Given the description of an element on the screen output the (x, y) to click on. 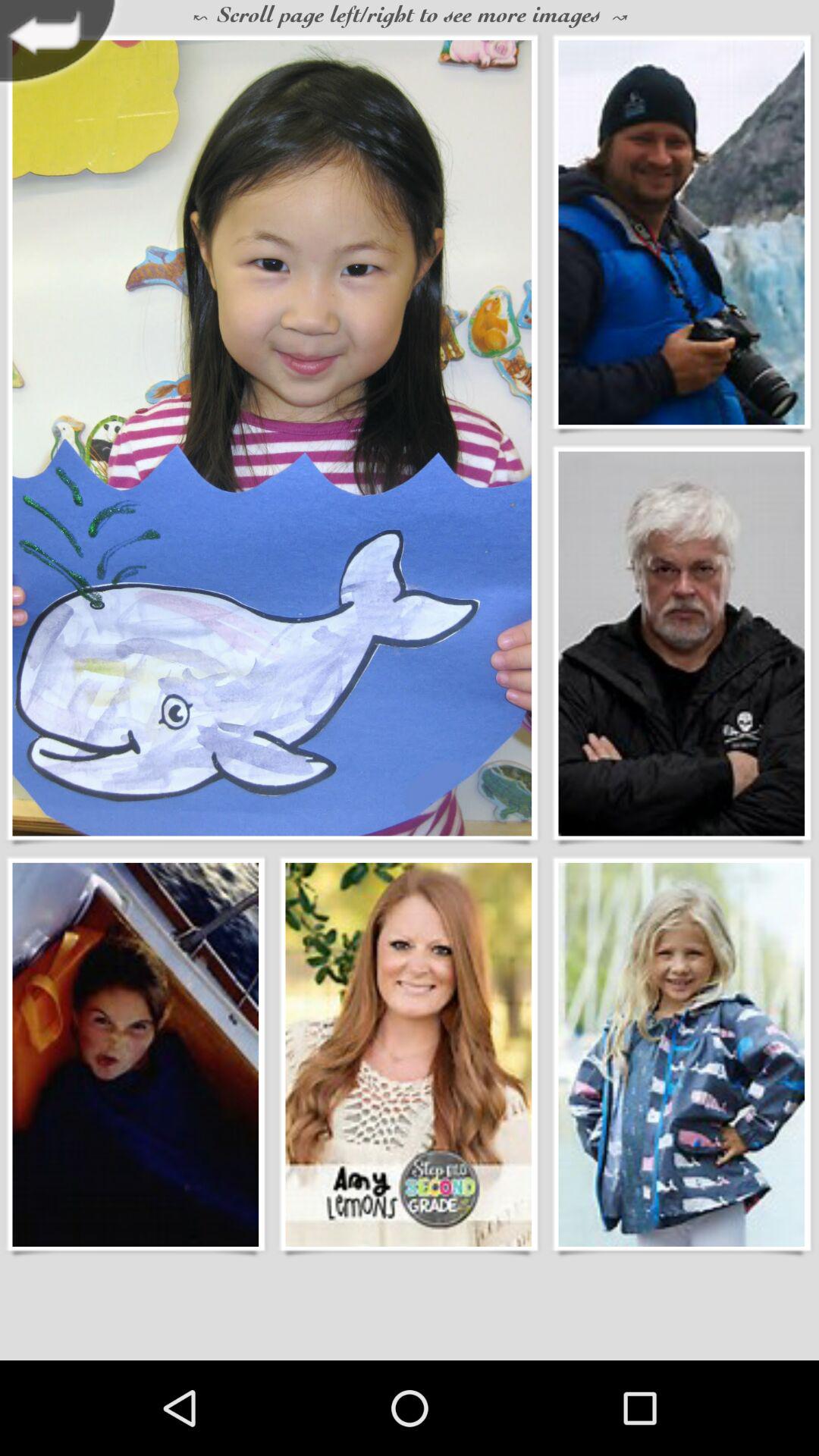
open fullsize image (681, 232)
